Given the description of an element on the screen output the (x, y) to click on. 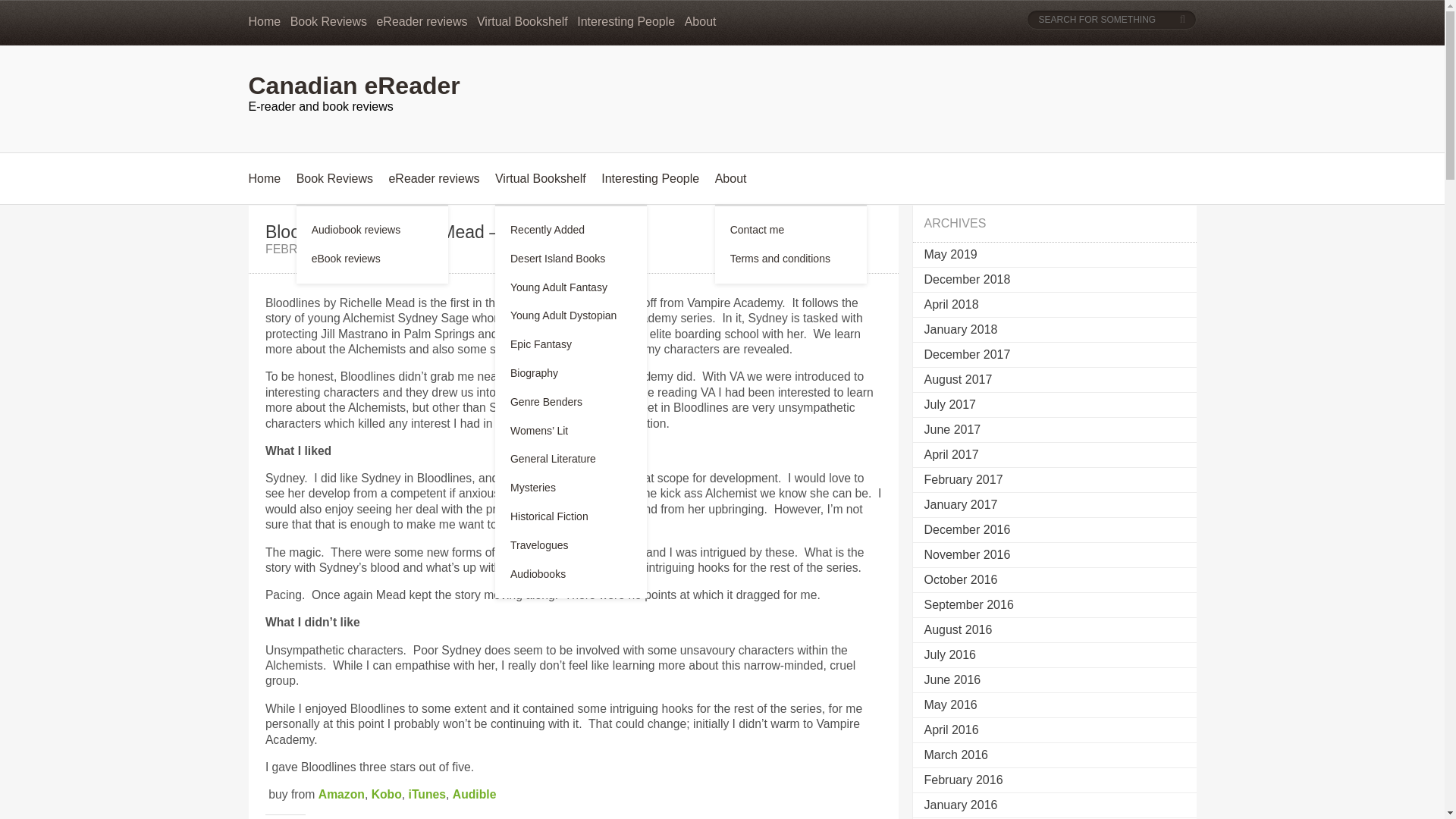
Young Adult Dystopian (563, 315)
Young Adult Fantasy (559, 287)
Desert Island Books (558, 258)
Interesting People (625, 21)
Virtual Bookshelf (540, 178)
Book Reviews (334, 178)
Epic Fantasy (541, 344)
Home (264, 178)
eReader reviews (433, 178)
Home (264, 21)
